Given the description of an element on the screen output the (x, y) to click on. 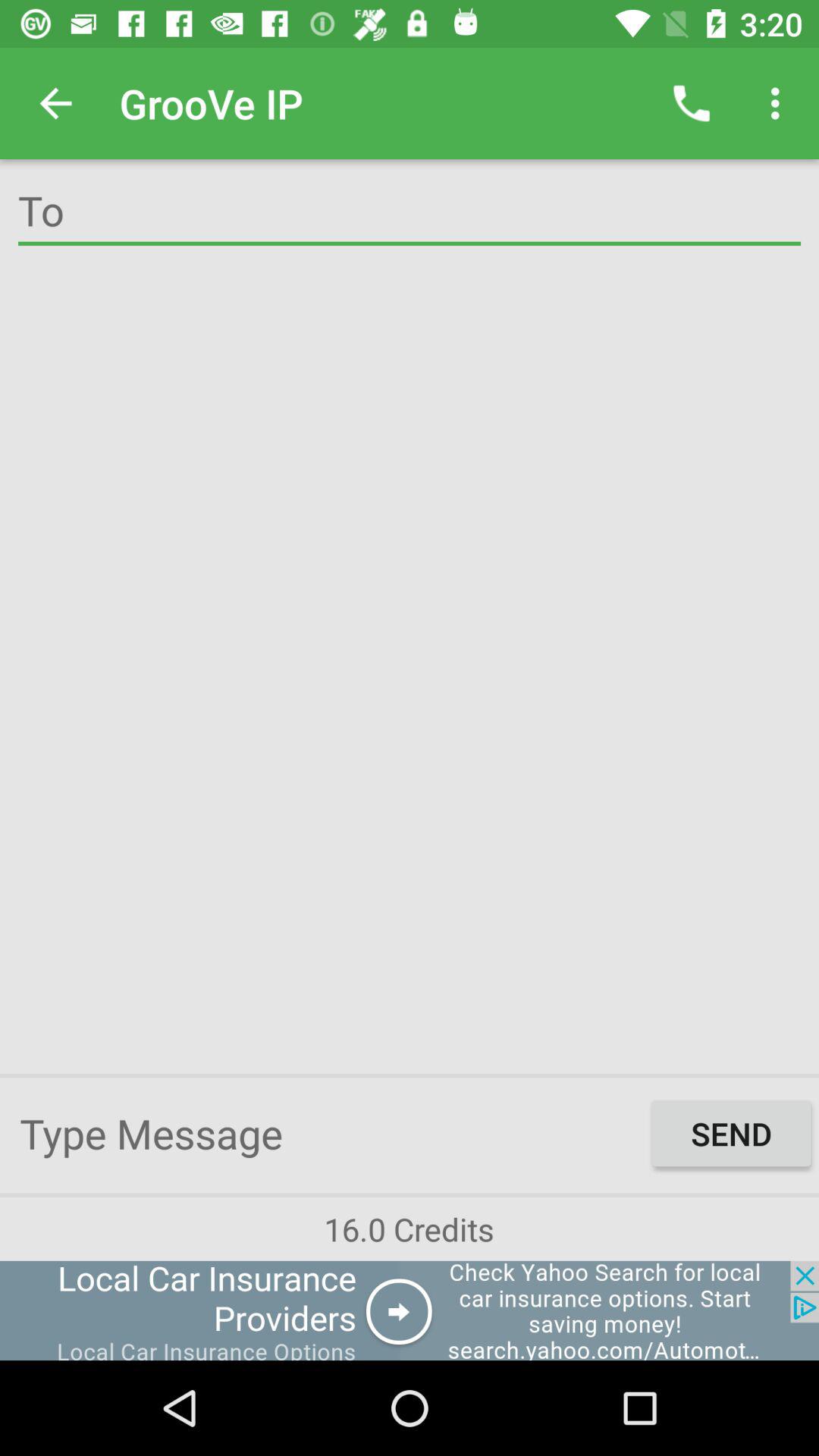
type message (331, 1133)
